Given the description of an element on the screen output the (x, y) to click on. 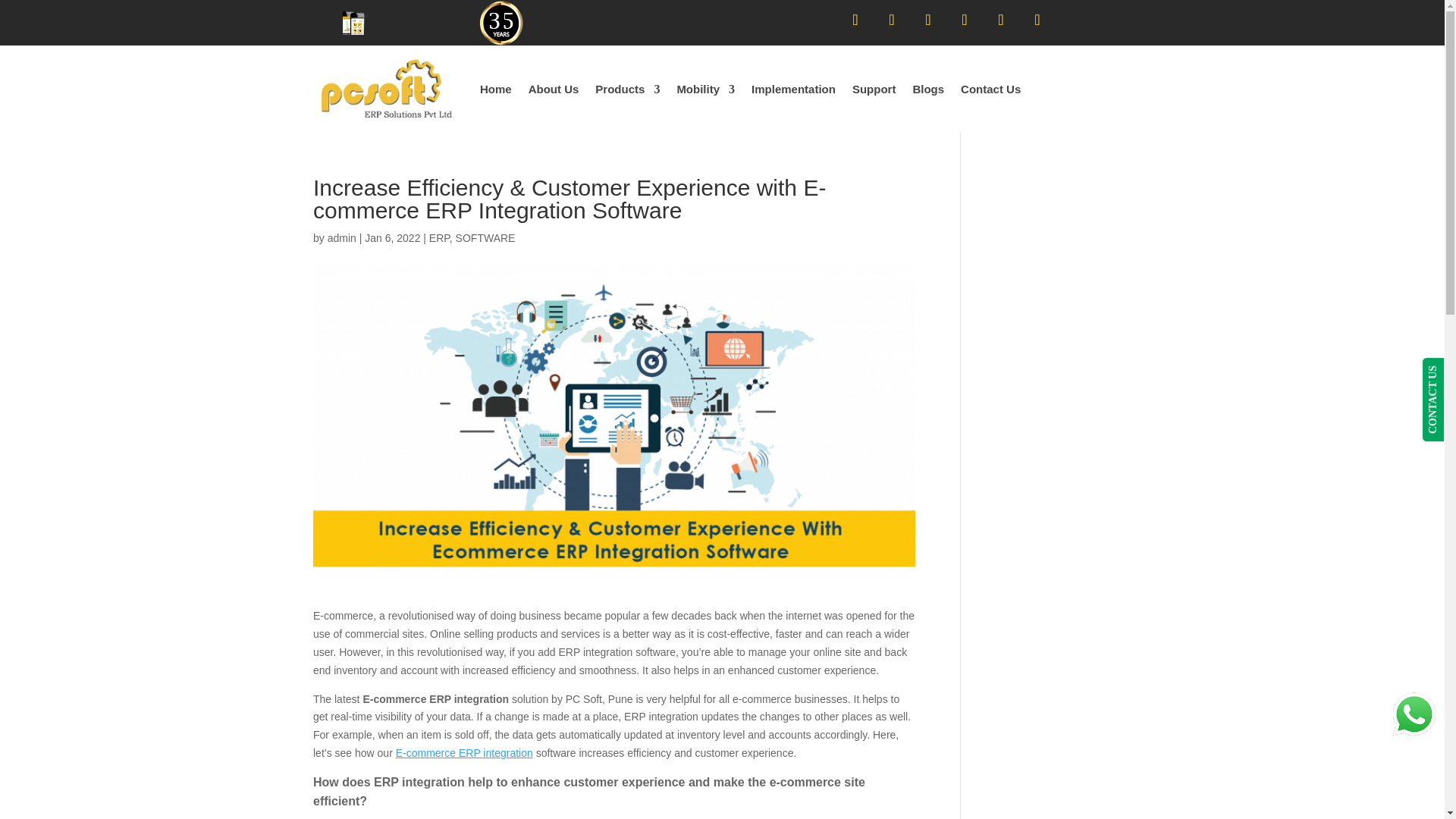
admin (341, 237)
Posts by admin (341, 237)
Follow on Youtube (964, 19)
ERP (439, 237)
Follow on LinkedIn (855, 19)
Follow on Google (927, 19)
Follow on Instagram (1000, 19)
Products (627, 89)
apps (353, 22)
Implementation (793, 89)
Follow on Twitter (1037, 19)
Follow on Facebook (891, 19)
35-years-logo (501, 22)
